Given the description of an element on the screen output the (x, y) to click on. 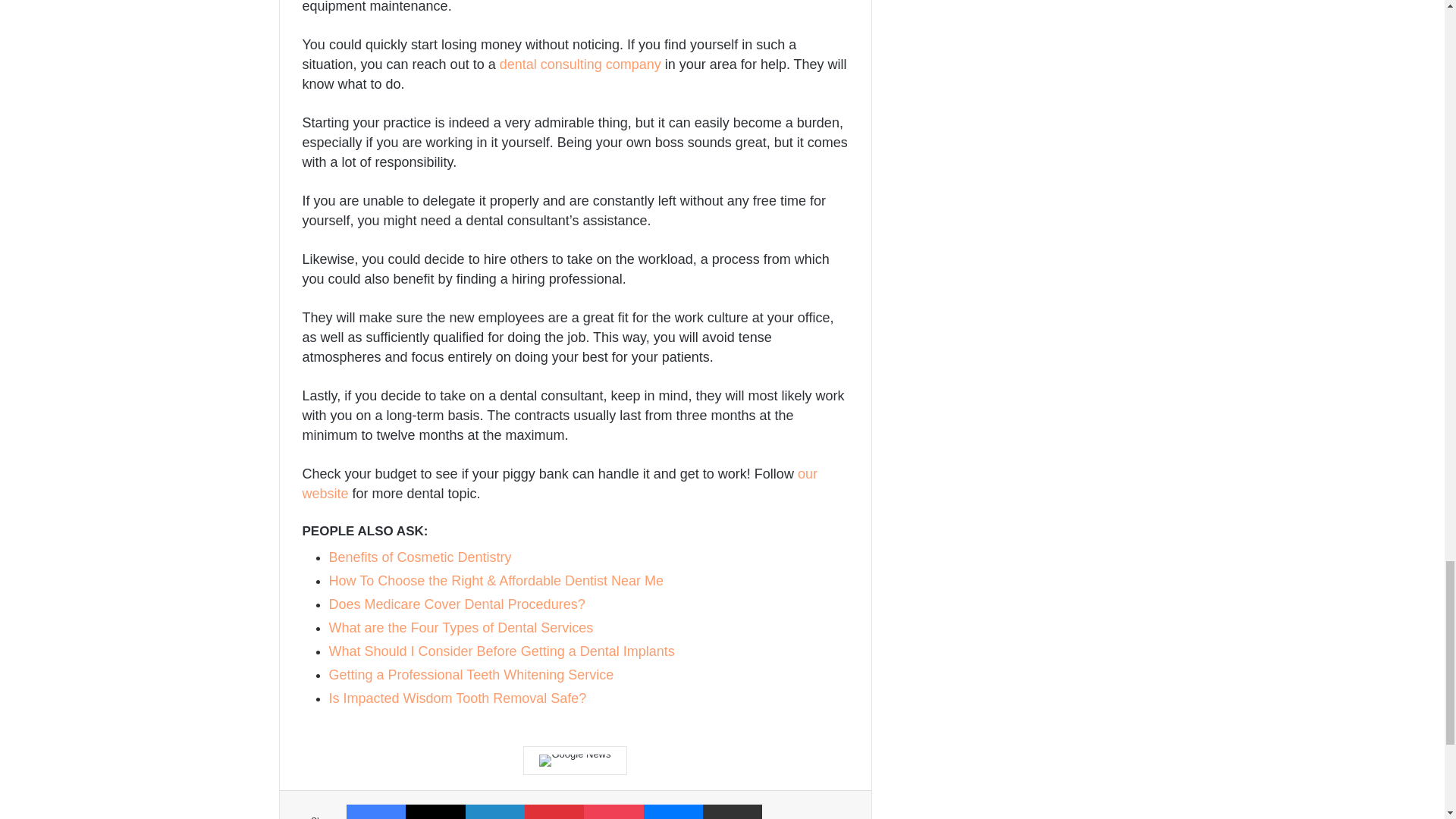
Pinterest (553, 811)
X (435, 811)
Google News (574, 760)
LinkedIn (494, 811)
Facebook (376, 811)
